Given the description of an element on the screen output the (x, y) to click on. 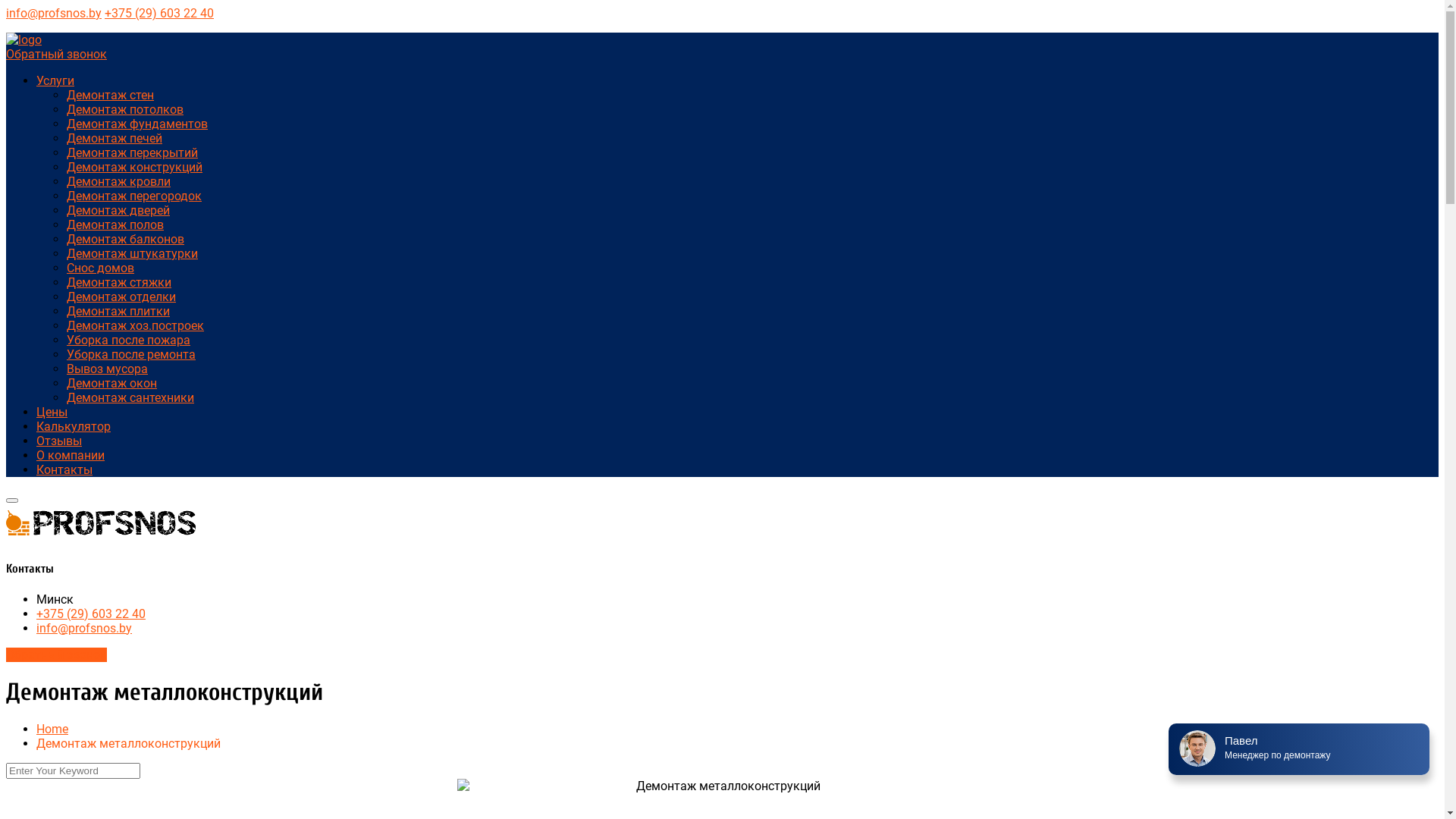
+375 (29) 603 22 40 Element type: text (90, 613)
info@profsnos.by Element type: text (83, 628)
info@profsnos.by Element type: text (53, 13)
+375 (29) 603 22 40 Element type: text (158, 13)
Home Element type: text (52, 728)
